Given the description of an element on the screen output the (x, y) to click on. 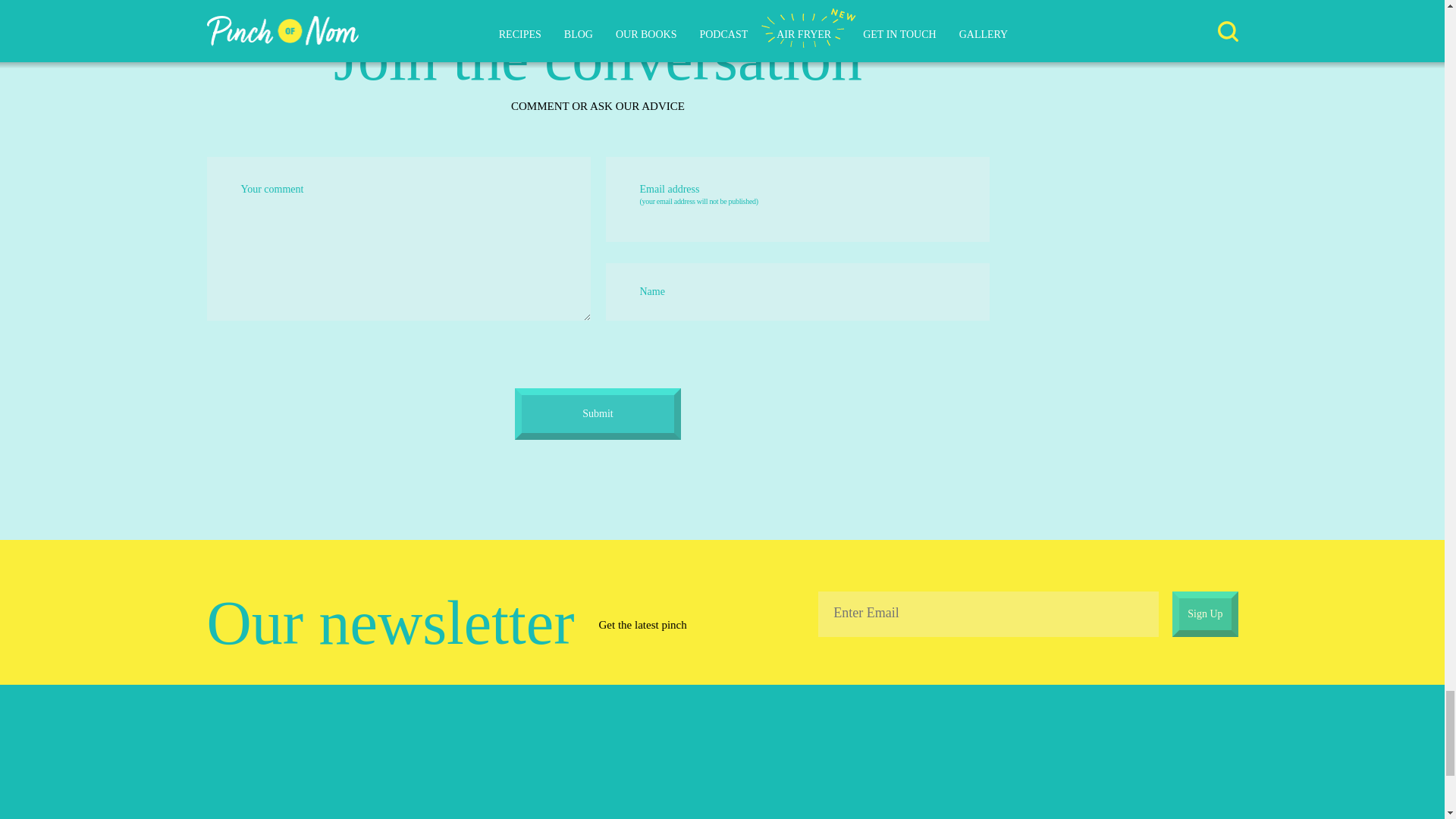
Submit (597, 413)
Sign Up (1204, 614)
